Given the description of an element on the screen output the (x, y) to click on. 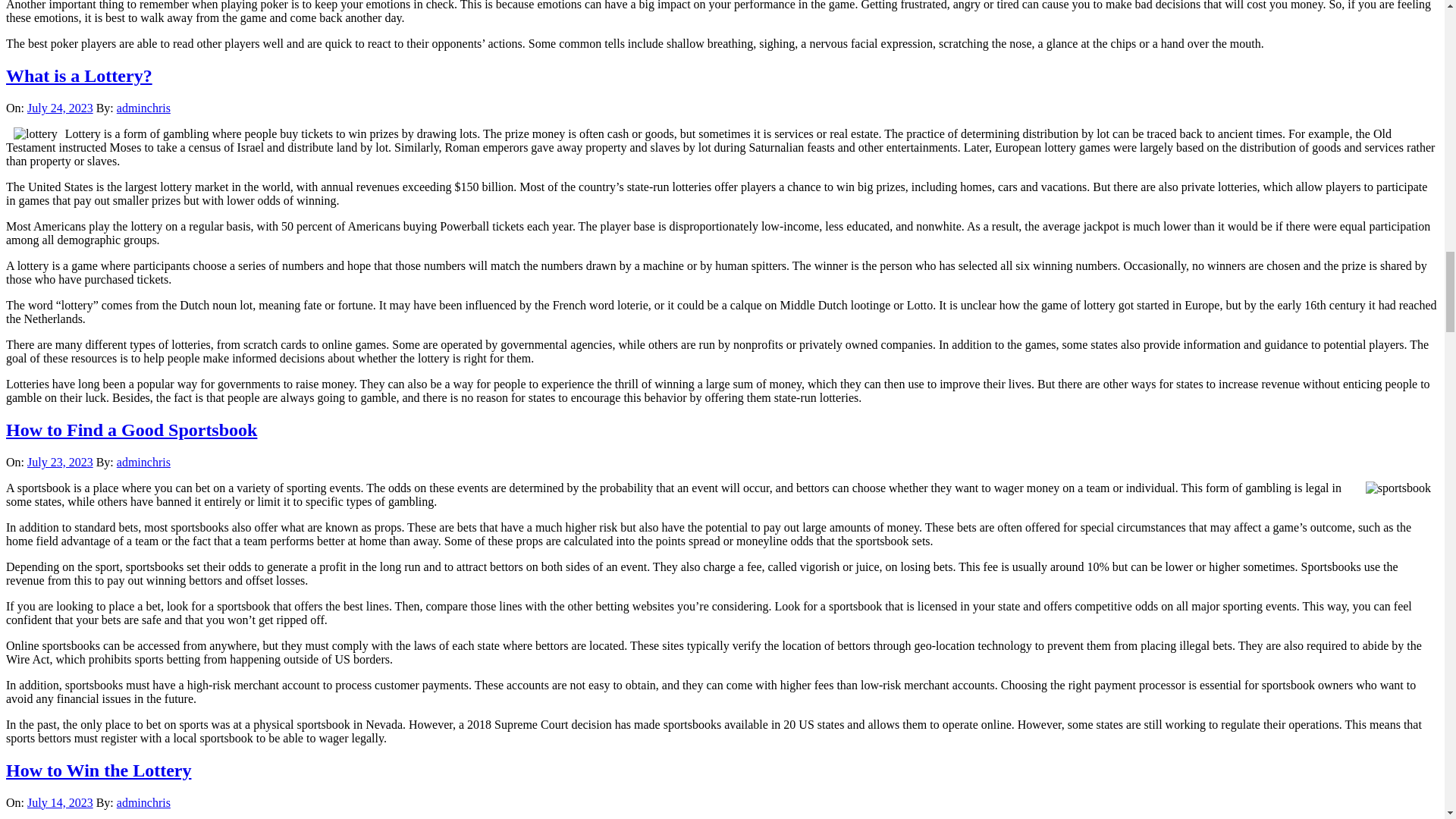
How to Win the Lottery (97, 770)
What is a Lottery? (78, 75)
July 24, 2023 (60, 107)
adminchris (143, 802)
How to Find a Good Sportsbook (131, 429)
July 14, 2023 (60, 802)
July 23, 2023 (60, 461)
adminchris (143, 107)
adminchris (143, 461)
